Given the description of an element on the screen output the (x, y) to click on. 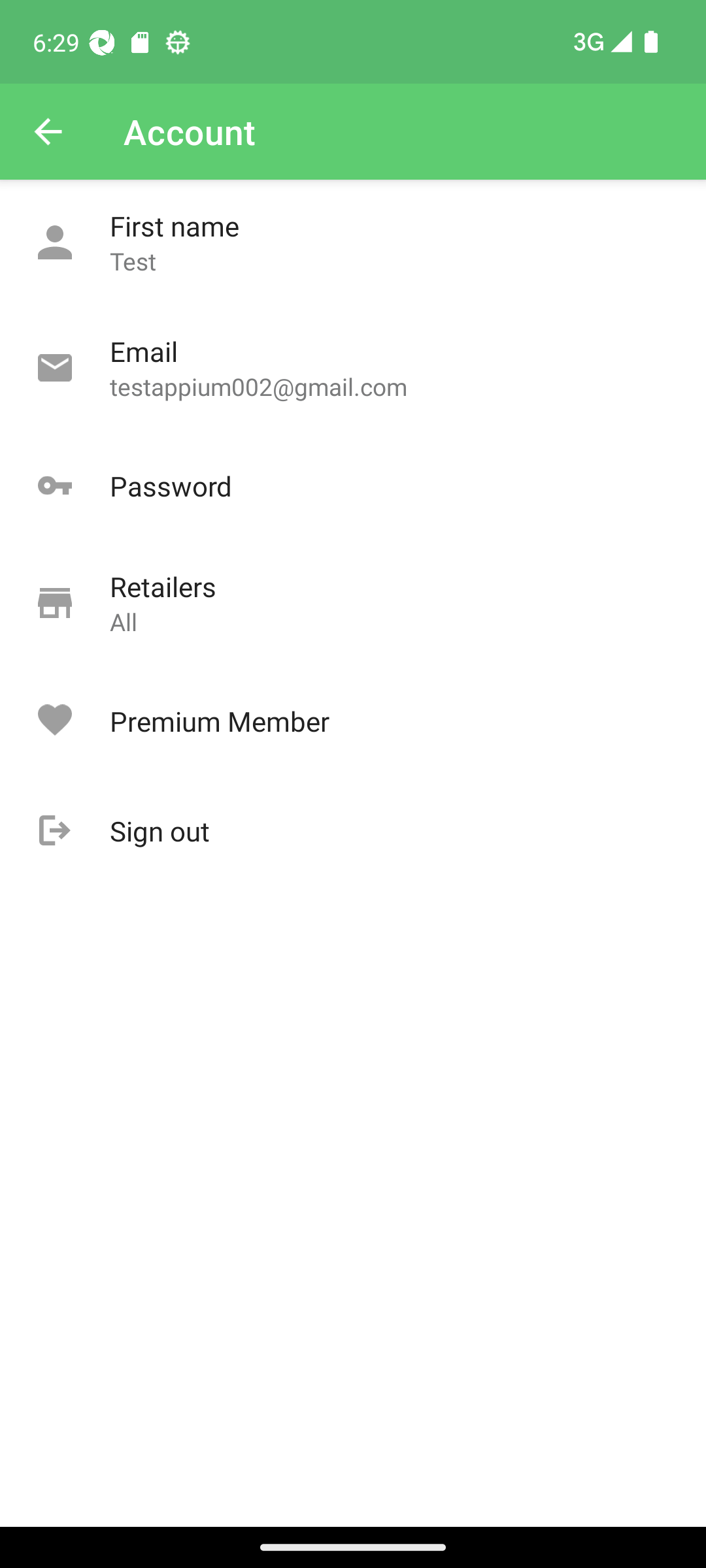
Navigate up (48, 131)
First name Test (353, 242)
Email testappium002@gmail.com (353, 368)
Password (353, 485)
Retailers All (353, 603)
Premium Member (353, 721)
Sign out (353, 830)
